Given the description of an element on the screen output the (x, y) to click on. 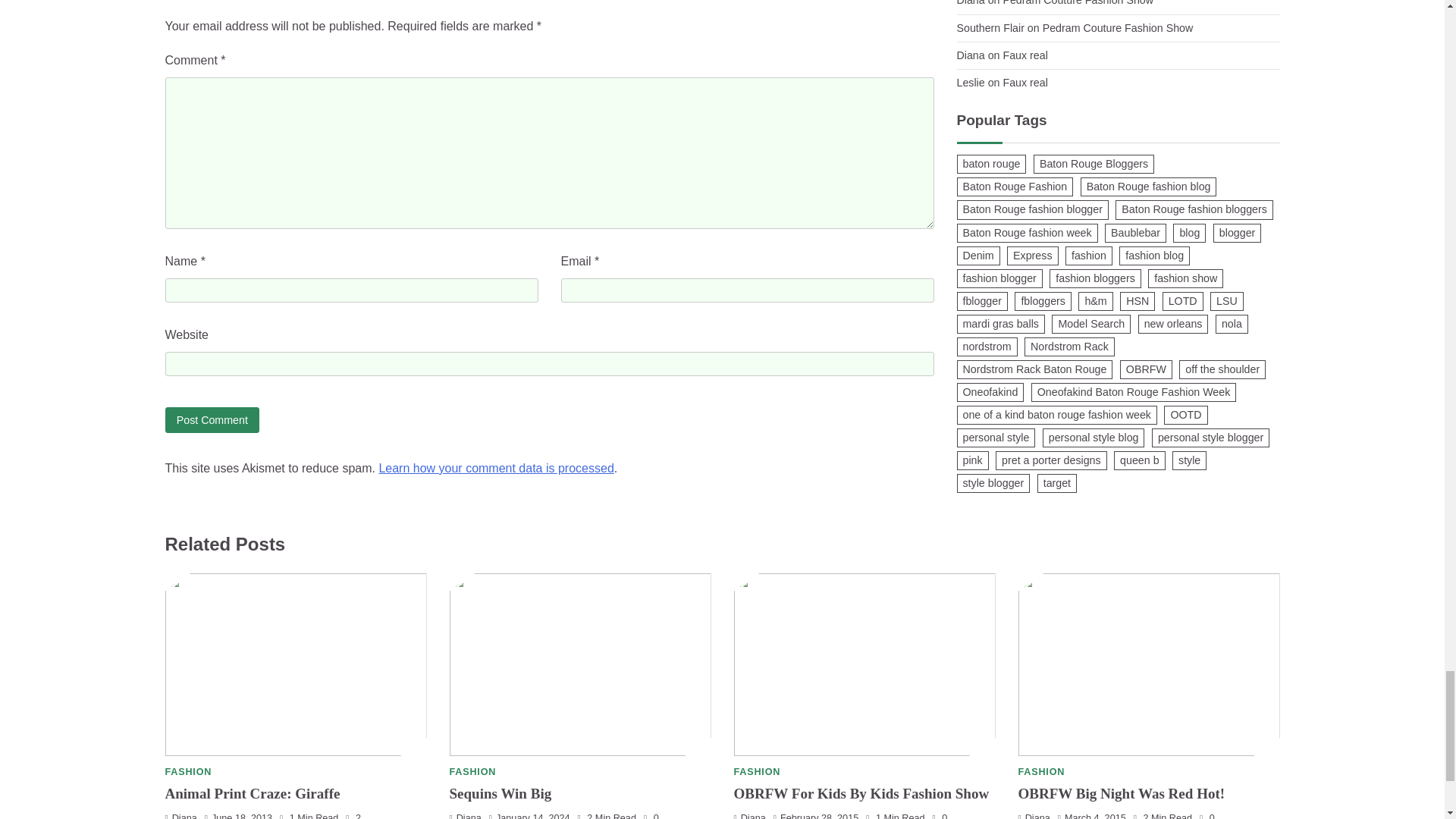
Post Comment (212, 419)
Learn how your comment data is processed (495, 468)
Post Comment (212, 419)
